Given the description of an element on the screen output the (x, y) to click on. 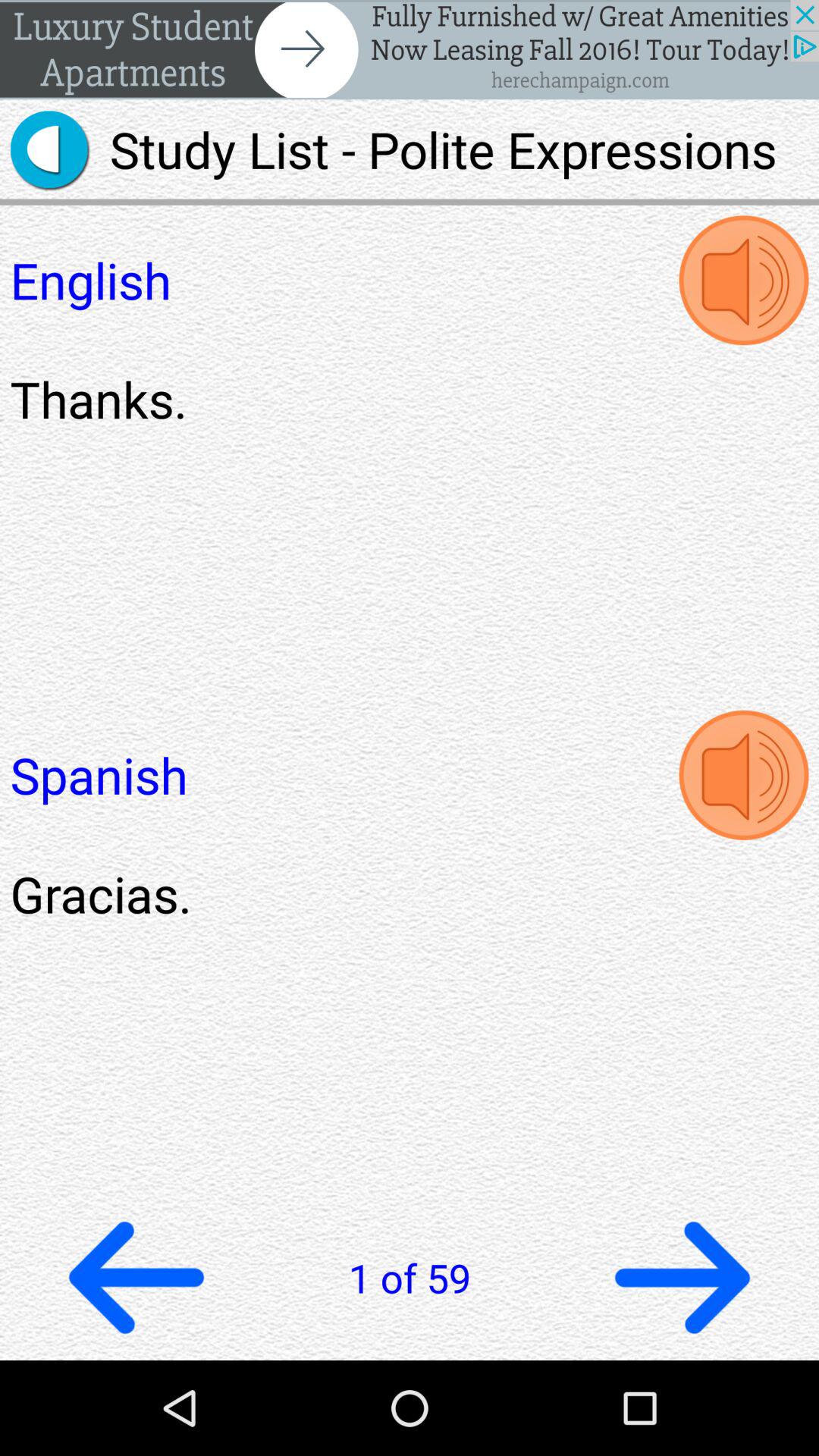
listen to word (743, 280)
